Given the description of an element on the screen output the (x, y) to click on. 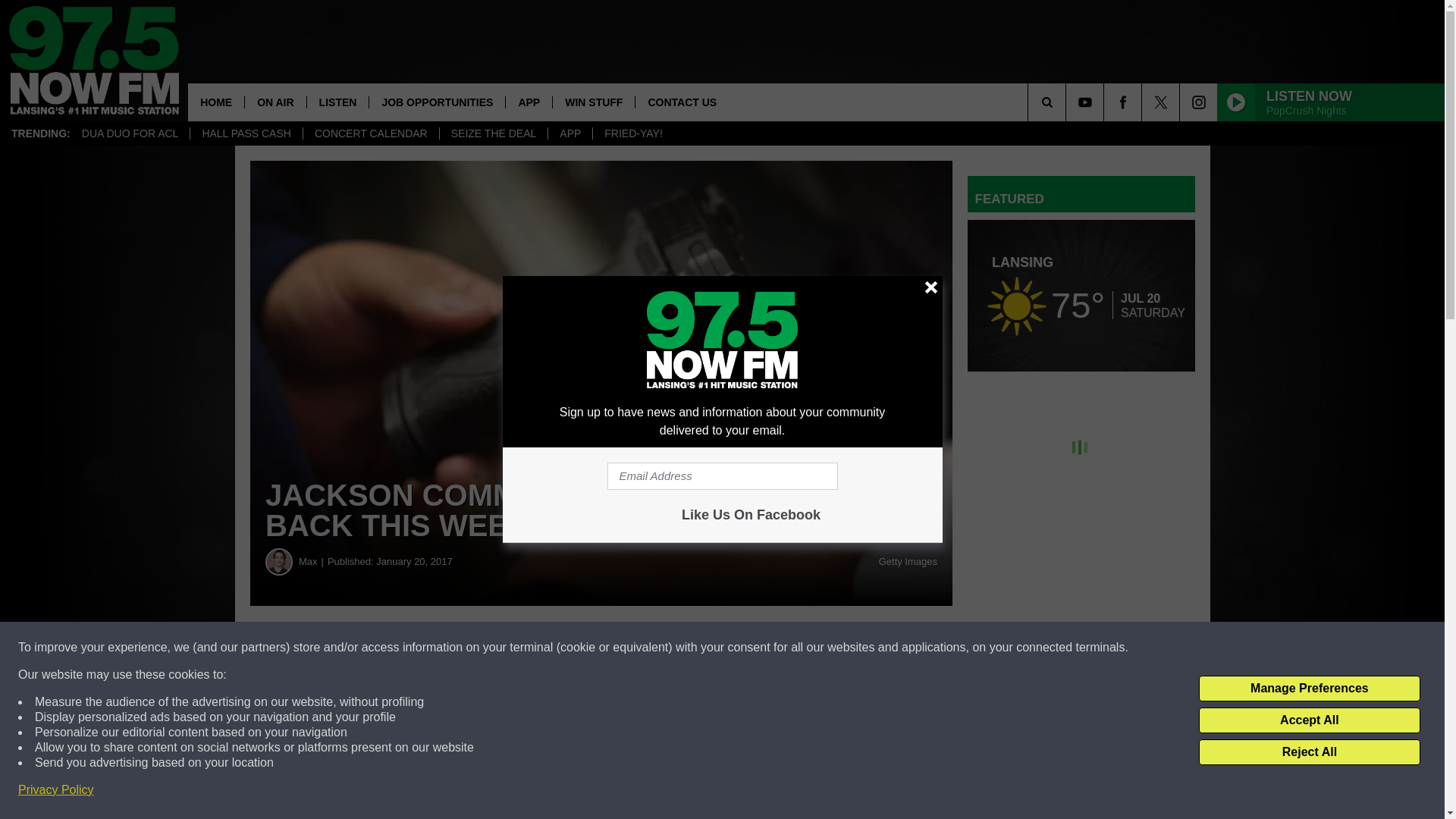
DUA DUO FOR ACL (129, 133)
HALL PASS CASH (245, 133)
JOB OPPORTUNITIES (436, 102)
APP (528, 102)
LISTEN (337, 102)
APP (569, 133)
CONCERT CALENDAR (370, 133)
HOME (215, 102)
Reject All (1309, 751)
SEARCH (1068, 102)
CONTACT US (681, 102)
Manage Preferences (1309, 688)
Privacy Policy (55, 789)
Email Address (722, 475)
SEIZE THE DEAL (493, 133)
